Given the description of an element on the screen output the (x, y) to click on. 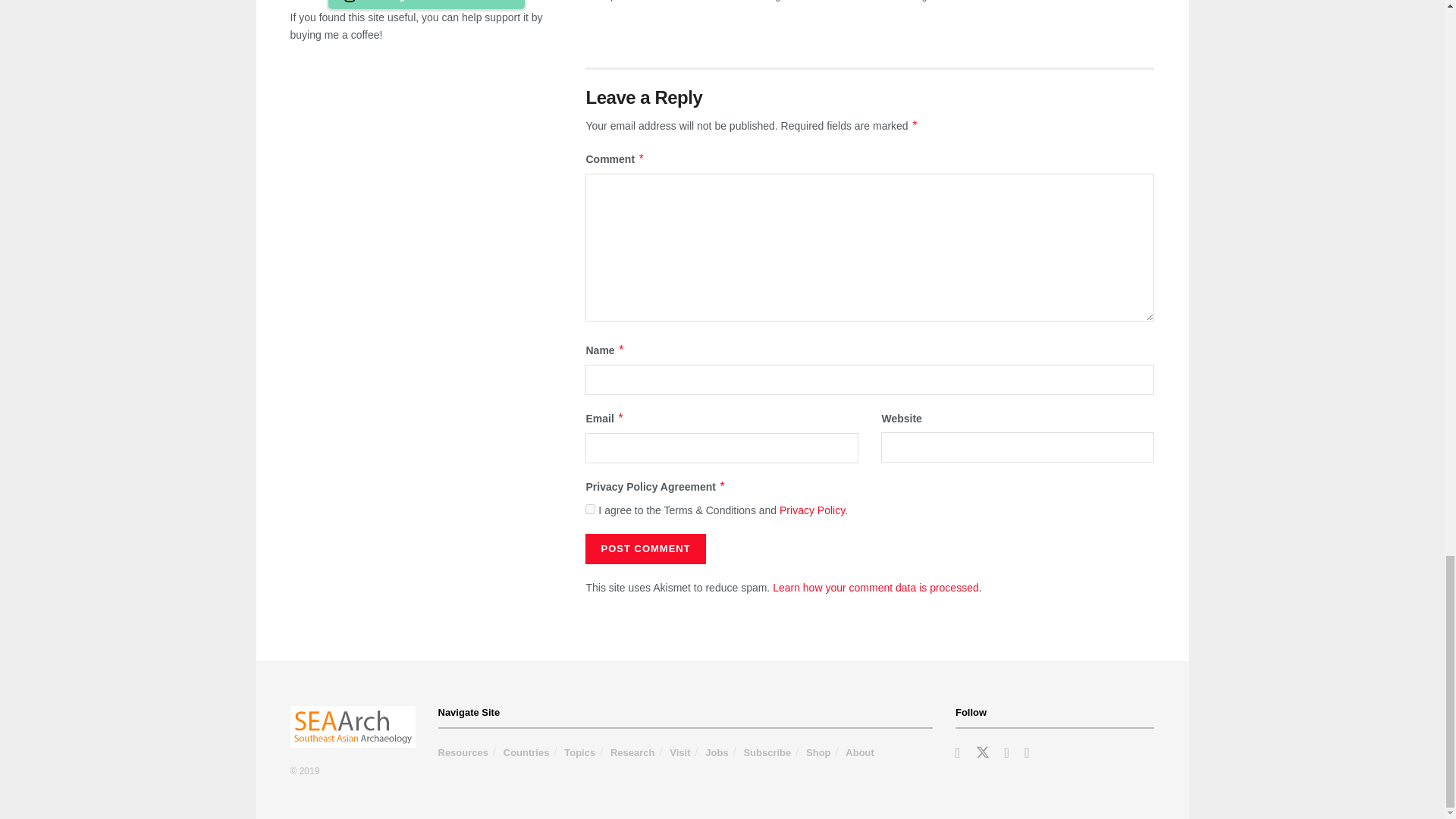
Post Comment (644, 548)
on (590, 509)
